Given the description of an element on the screen output the (x, y) to click on. 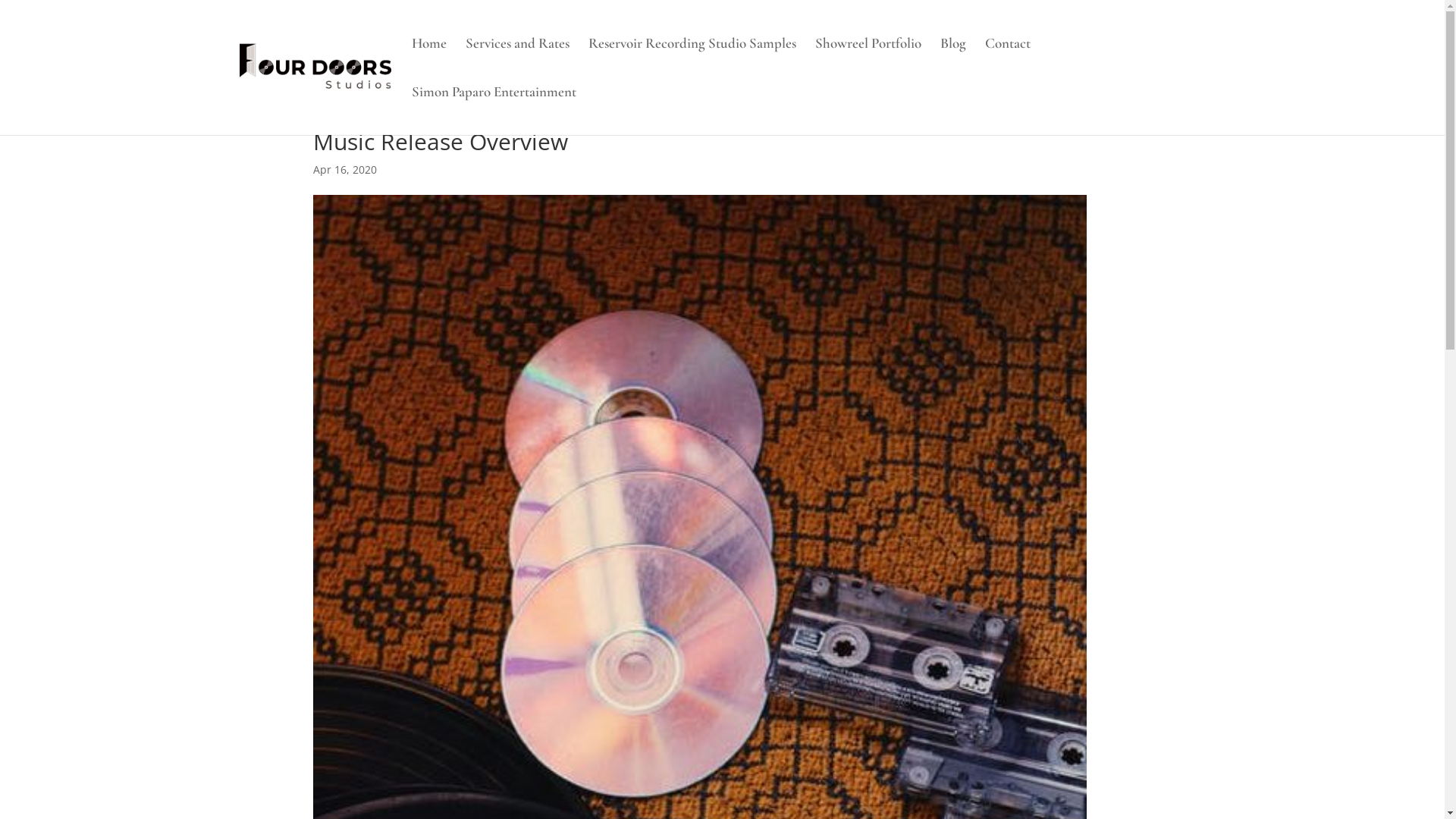
Home Element type: text (428, 61)
Blog Element type: text (953, 61)
Reservoir Recording Studio Samples Element type: text (692, 61)
Services and Rates Element type: text (517, 61)
Contact Element type: text (1006, 61)
Showreel Portfolio Element type: text (867, 61)
Simon Paparo Entertainment Element type: text (493, 110)
